Given the description of an element on the screen output the (x, y) to click on. 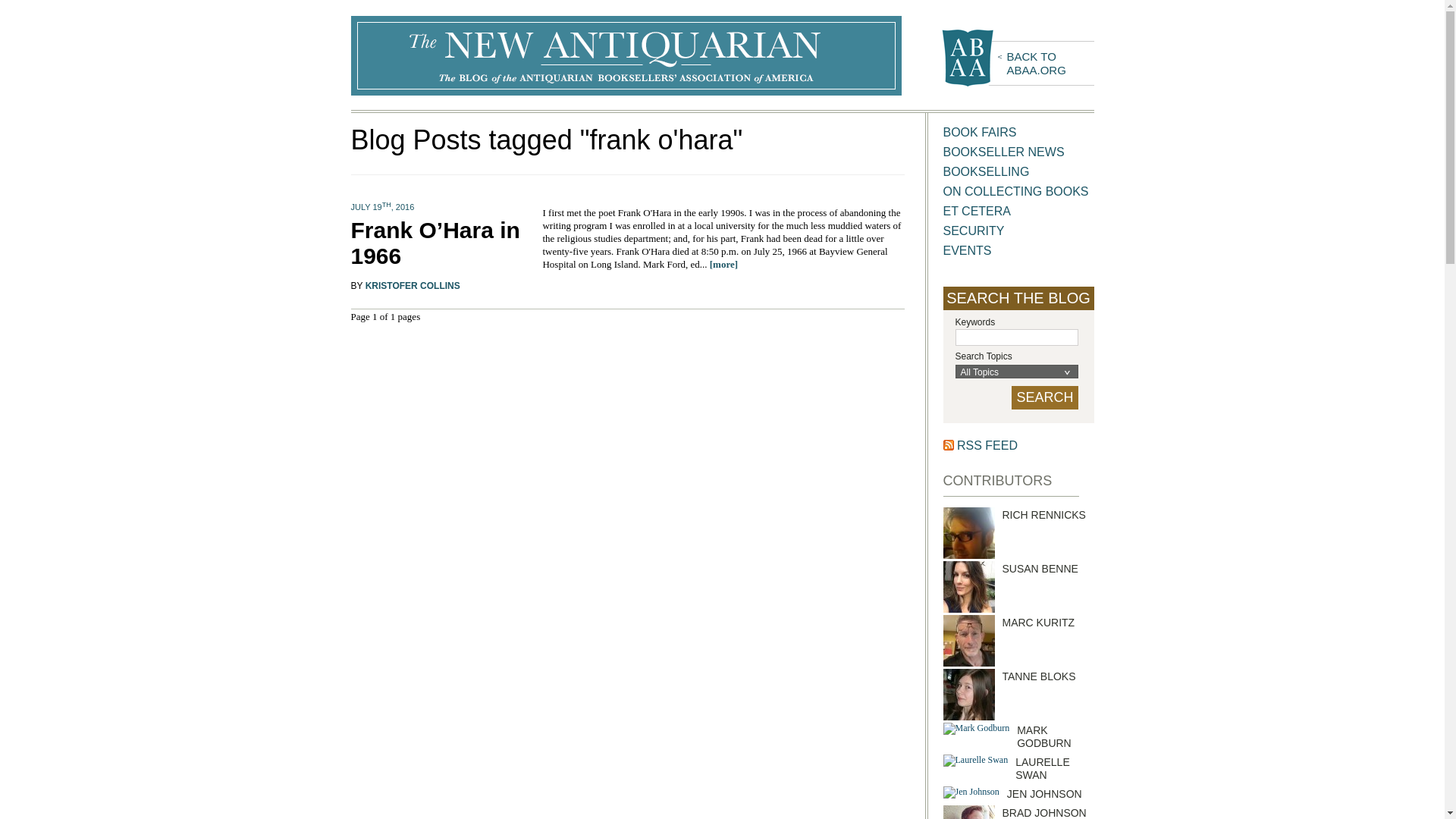
BRAD JOHNSON (1044, 812)
TANNE BLOKS (1039, 676)
ON COLLECTING BOOKS (1018, 57)
JEN JOHNSON (1016, 191)
BOOK FAIRS (1044, 793)
MARC KURITZ (979, 132)
RSS FEED (1039, 622)
LAURELLE SWAN (986, 445)
EVENTS (1042, 768)
